Given the description of an element on the screen output the (x, y) to click on. 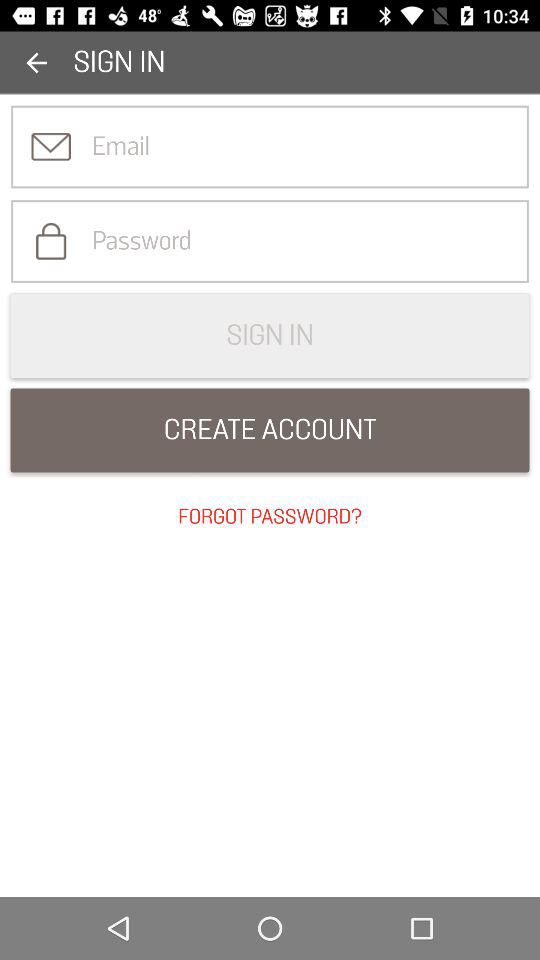
click the forgot password? item (269, 517)
